Given the description of an element on the screen output the (x, y) to click on. 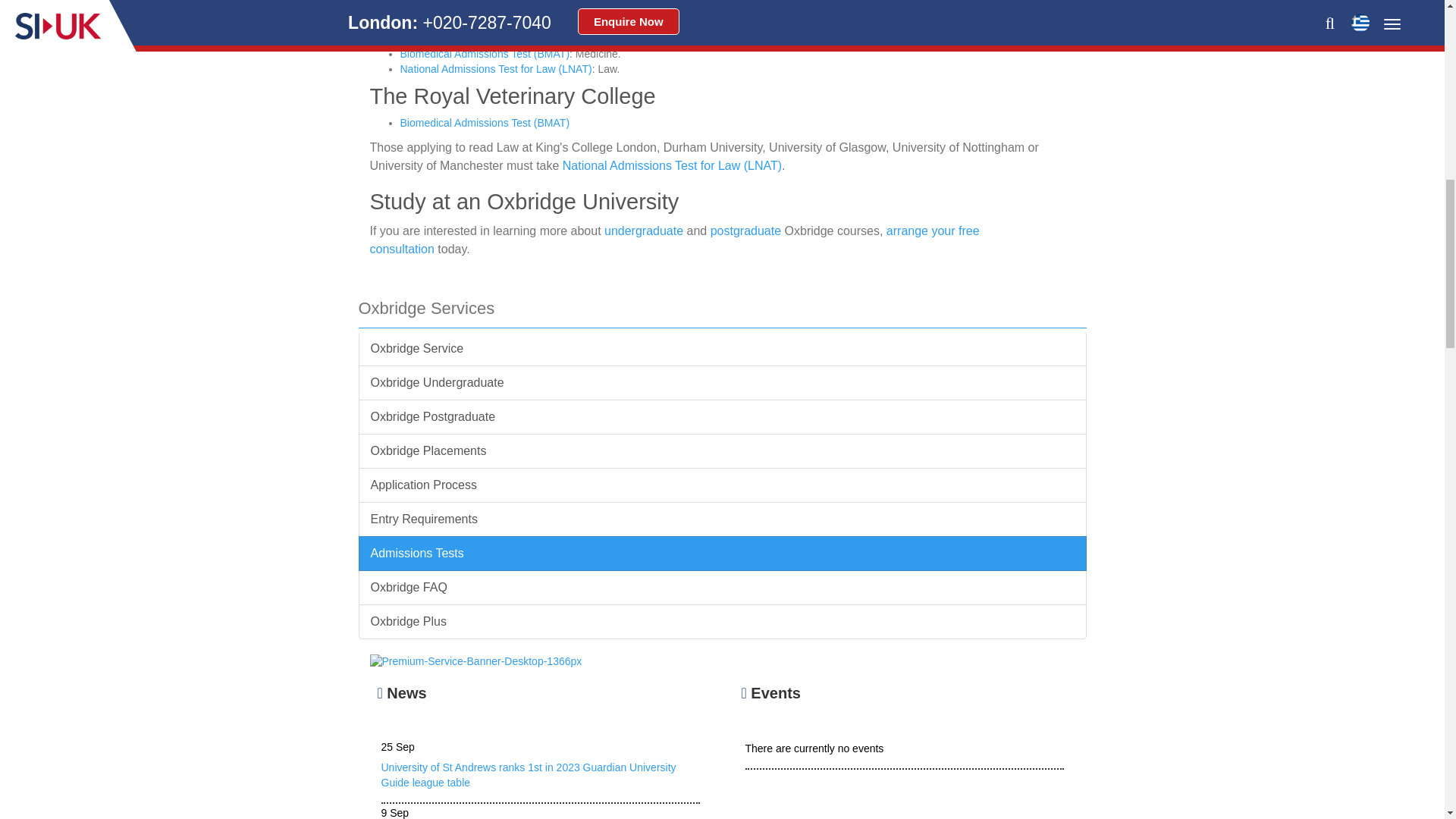
There are currently no events (903, 780)
